Given the description of an element on the screen output the (x, y) to click on. 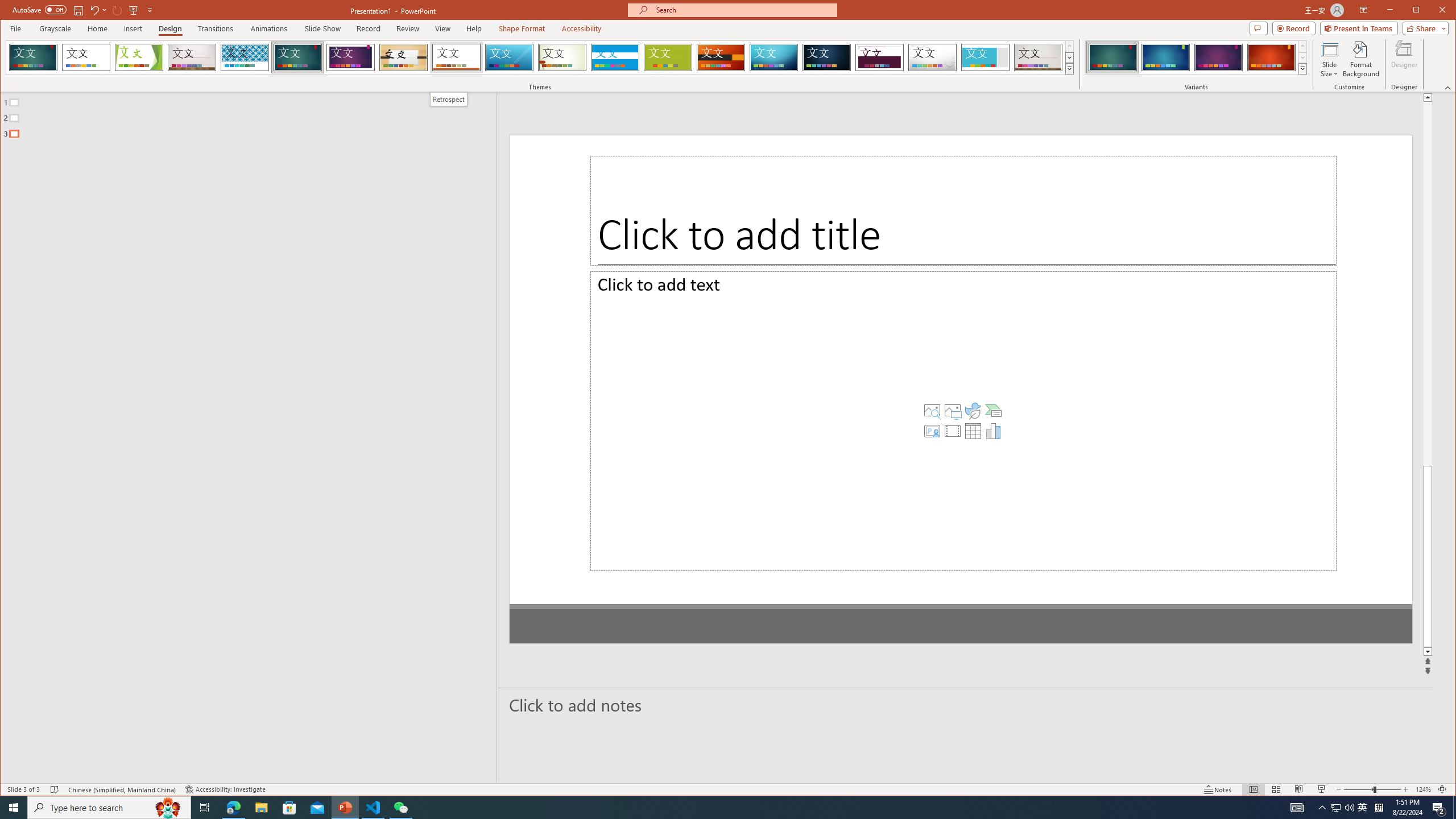
Berlin (720, 57)
